Given the description of an element on the screen output the (x, y) to click on. 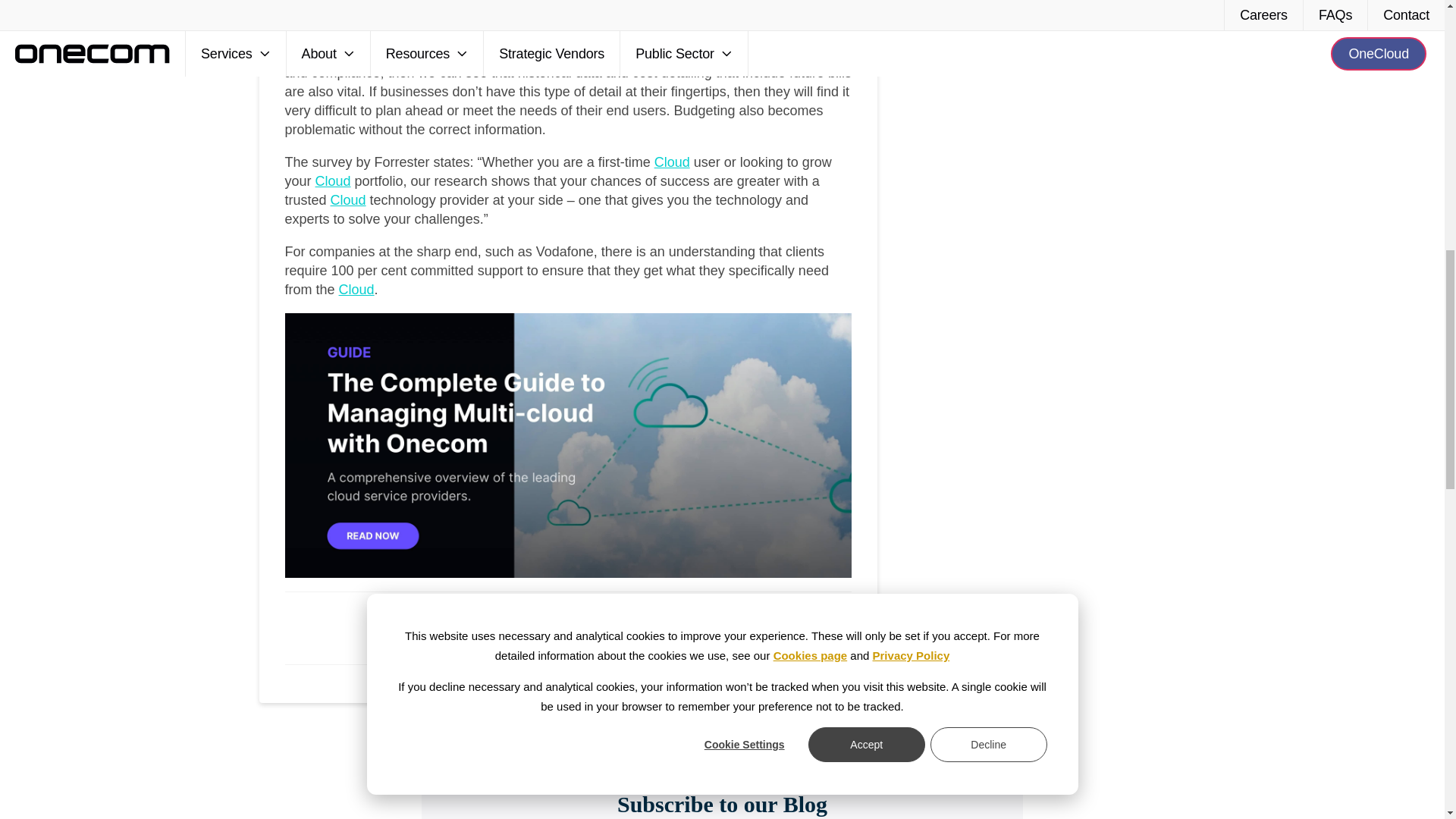
Cloud (671, 161)
Cloud (356, 289)
Cloud (332, 181)
Cloud (348, 200)
